Given the description of an element on the screen output the (x, y) to click on. 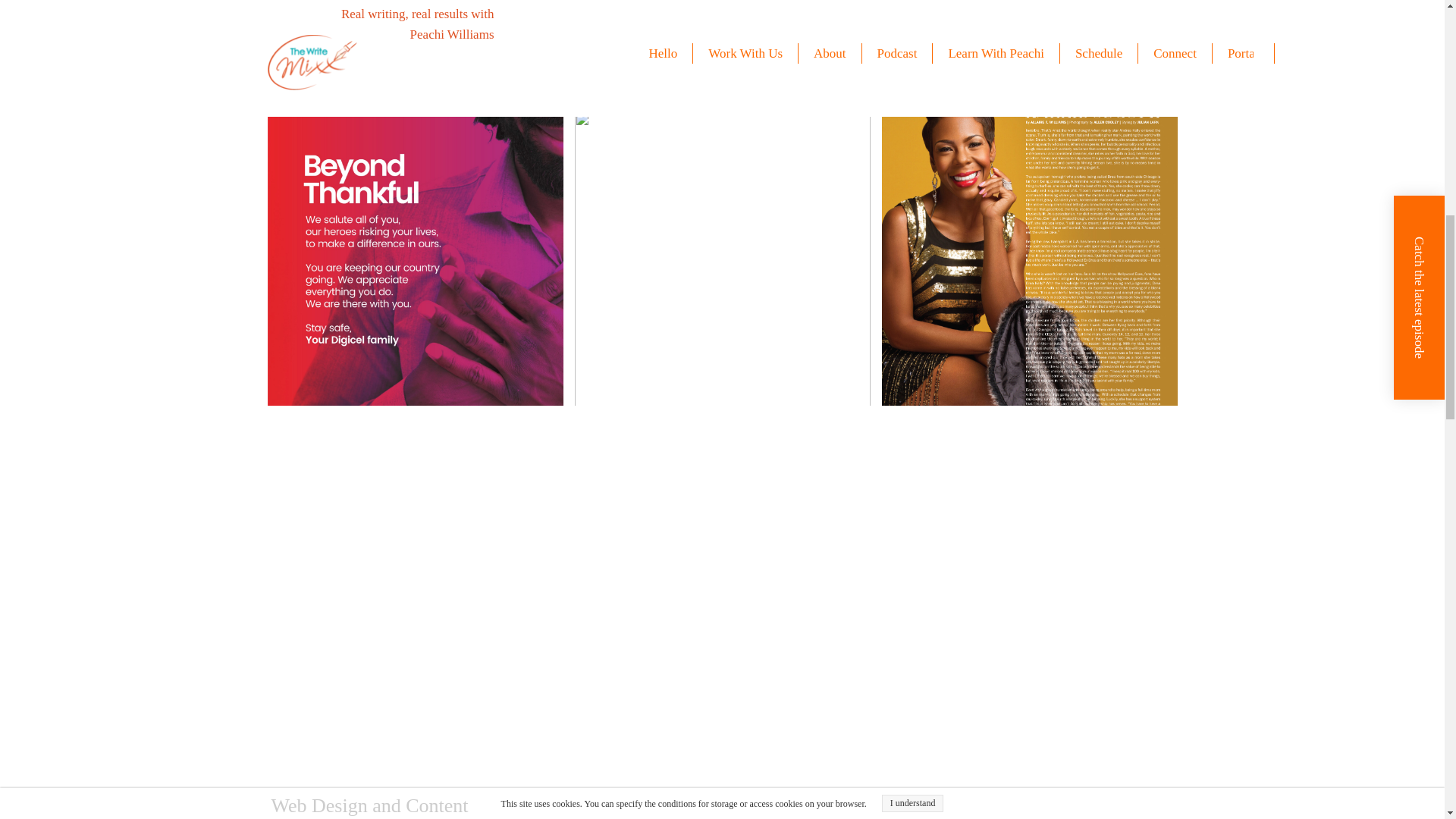
Social posters (722, 54)
Covid-19 campaign (1028, 75)
Covid-19 Full Poem (722, 260)
White Paper for UNC Flagler-Keenan Institute (414, 803)
Remember My Name Logo (722, 560)
Digicel Abroad Website (1028, 801)
Covid-19 social campaign (414, 54)
